Given the description of an element on the screen output the (x, y) to click on. 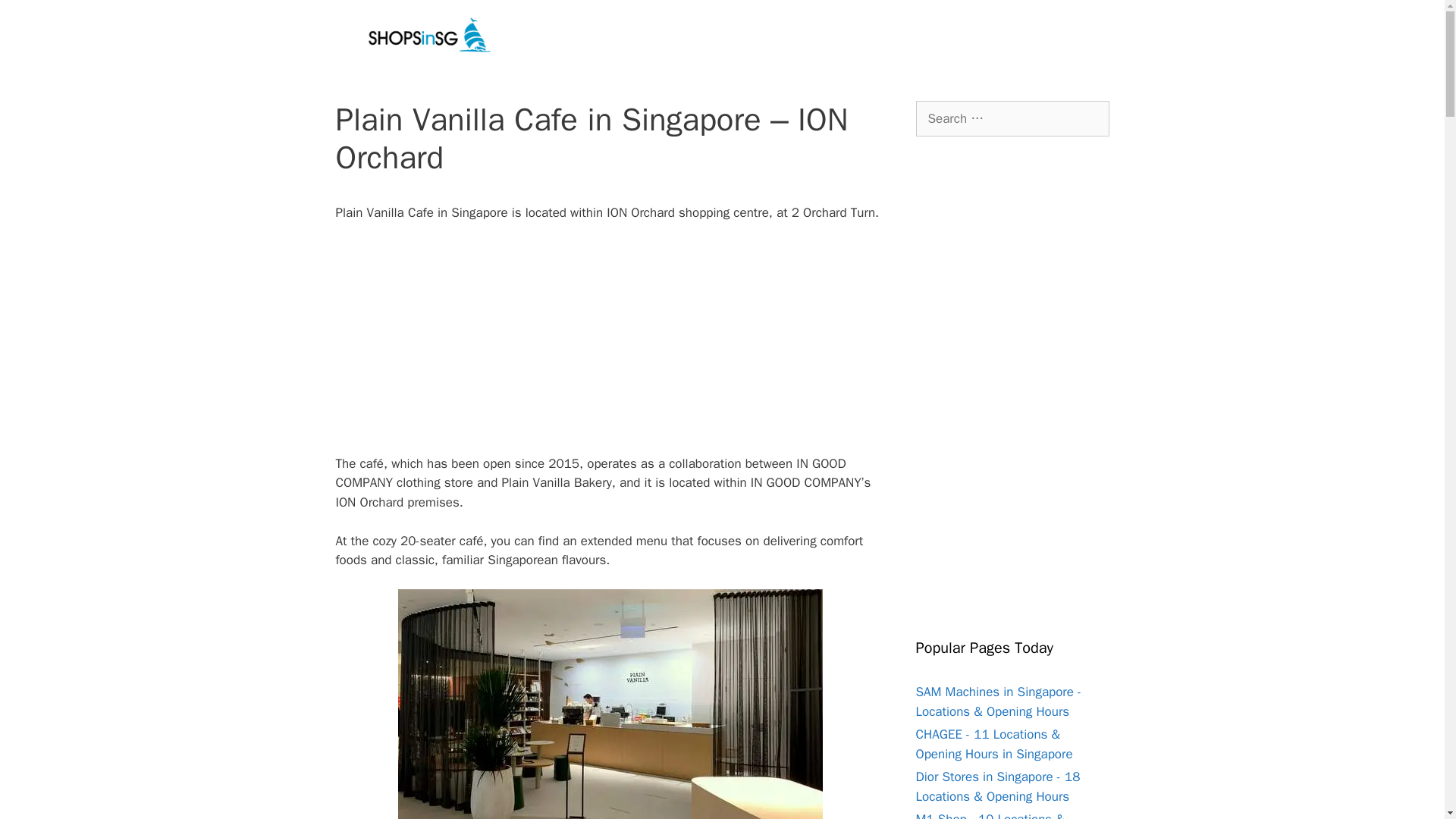
Search (35, 18)
Search for: (1012, 118)
Advertisement (609, 347)
